Given the description of an element on the screen output the (x, y) to click on. 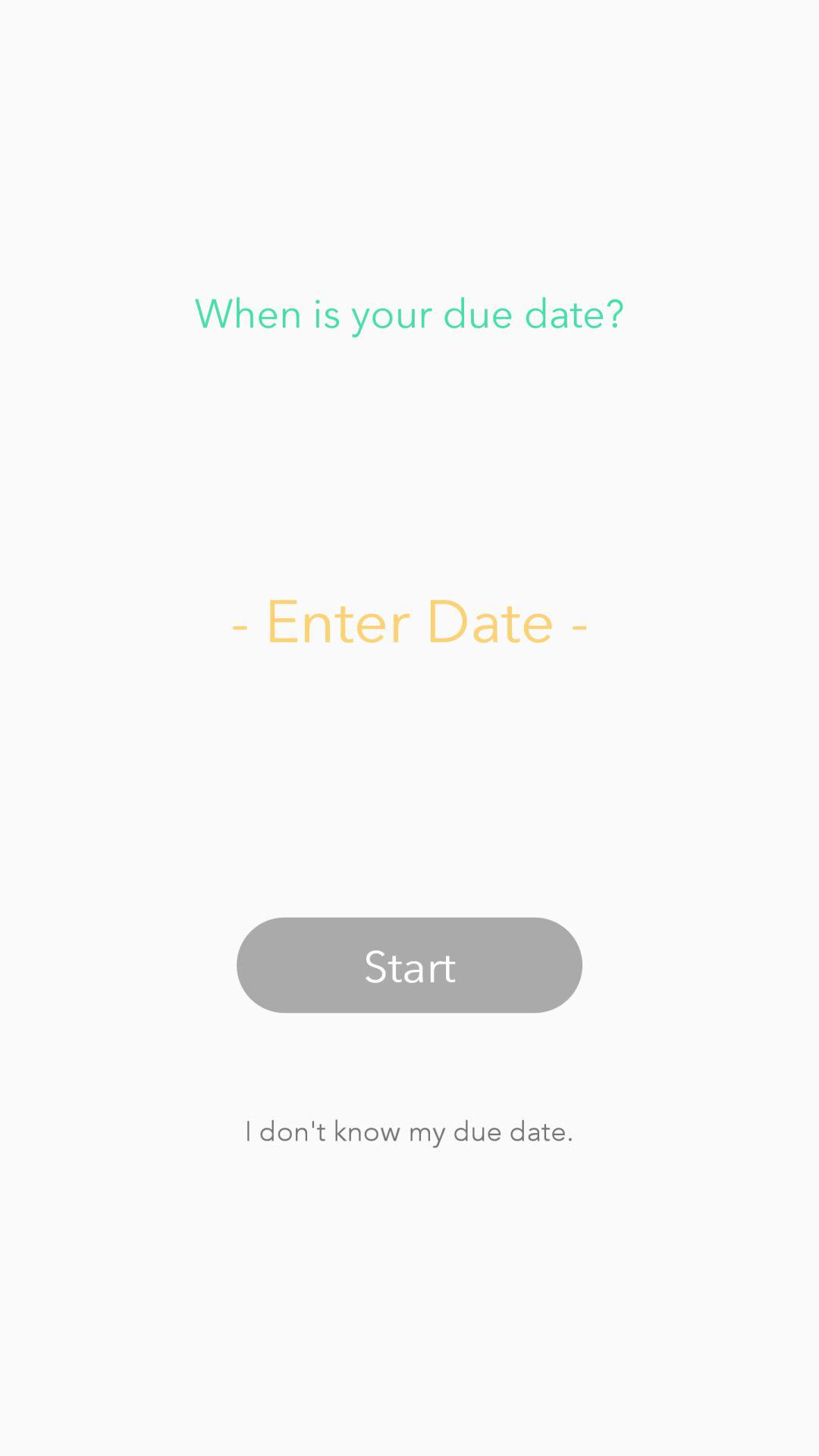
launch icon below the start item (408, 1129)
